Given the description of an element on the screen output the (x, y) to click on. 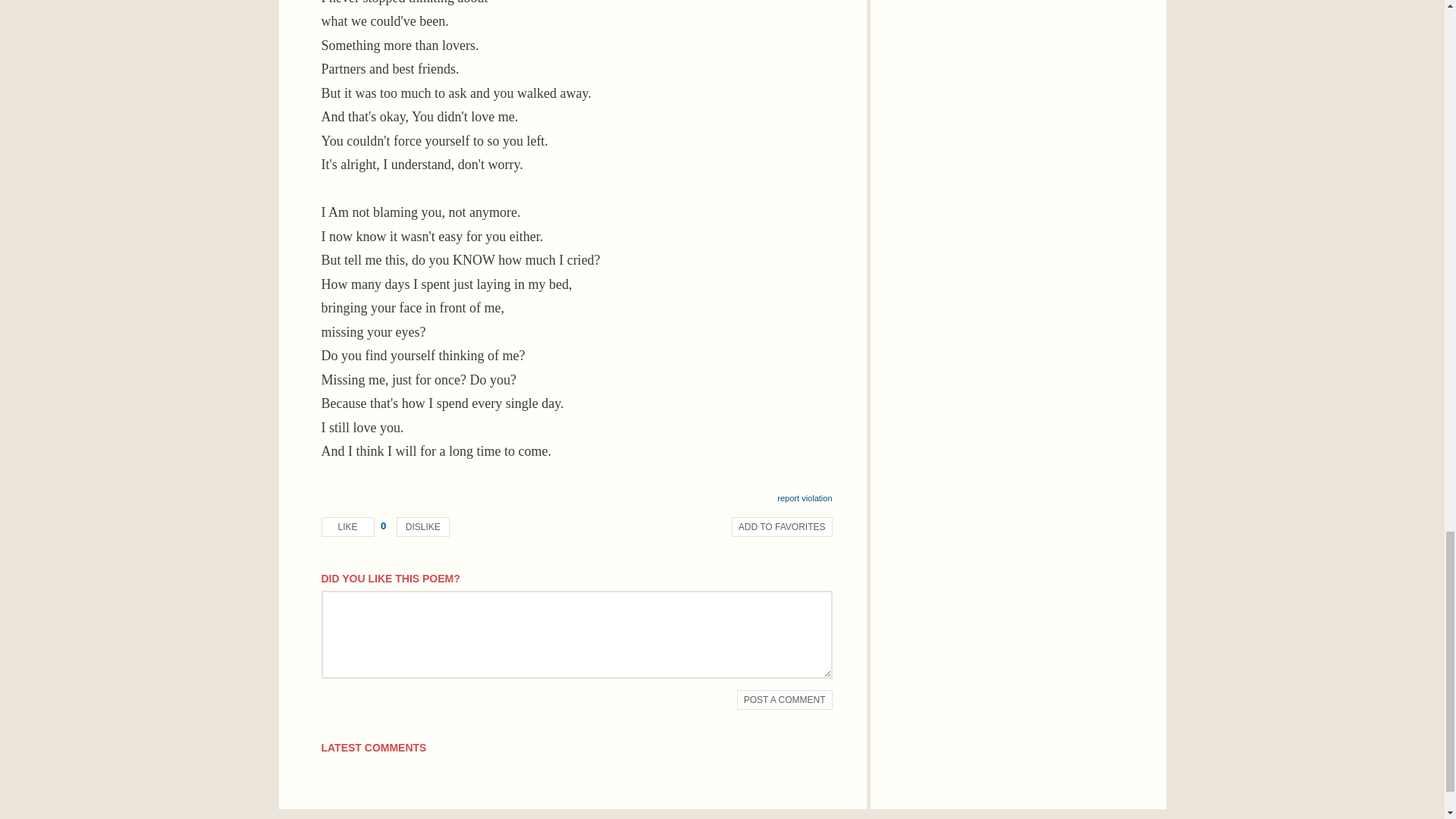
ADD TO FAVORITES (782, 526)
LIKE (347, 526)
POST A COMMENT (784, 700)
report violation (804, 497)
DISLIKE (422, 526)
